Given the description of an element on the screen output the (x, y) to click on. 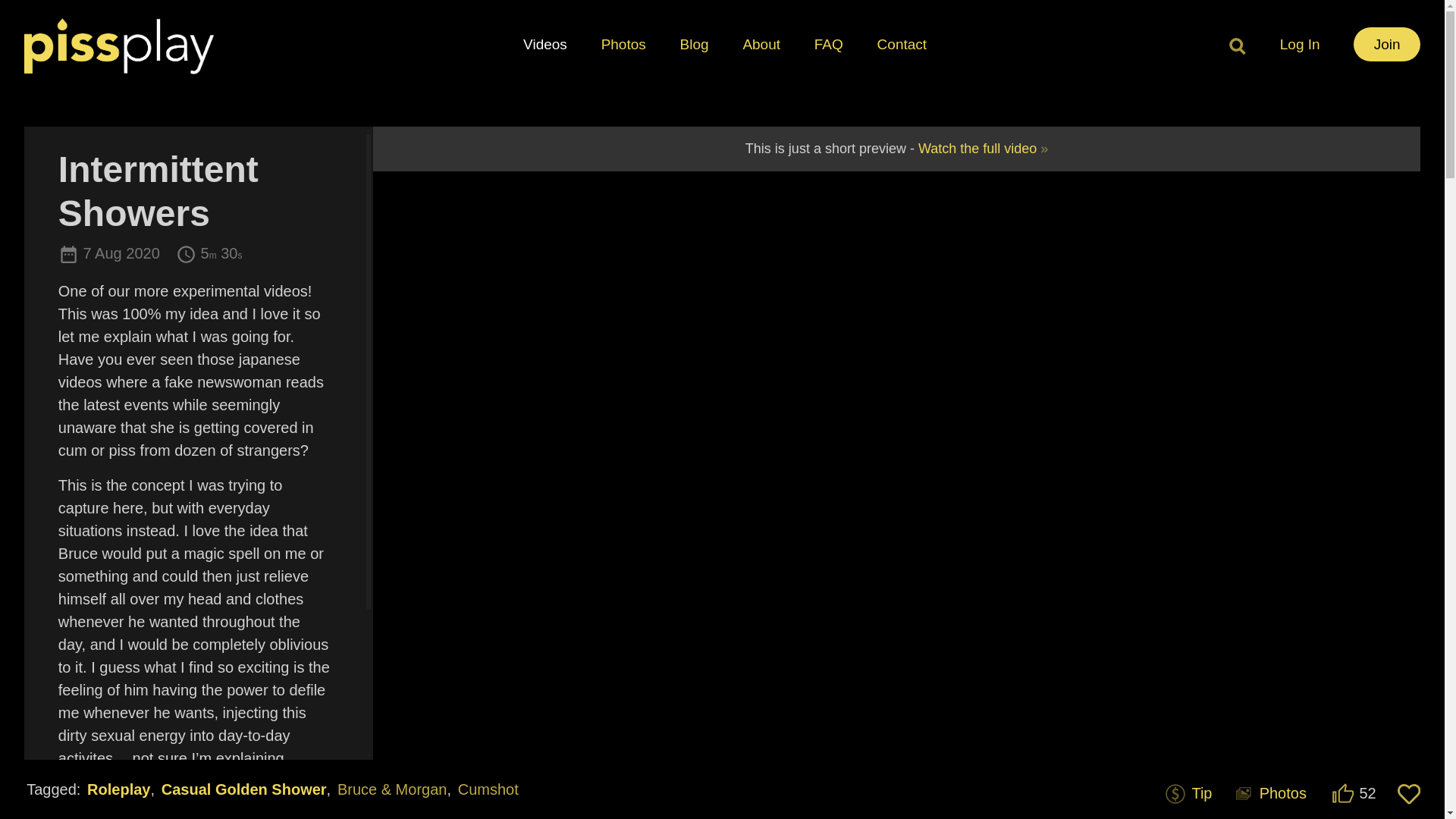
FAQ (828, 44)
Roleplay (117, 789)
Log In (1299, 44)
Send us a tip (1184, 793)
Tip (1184, 793)
Search (1235, 45)
About (761, 44)
Add to your Favorites (1409, 792)
I like this (1343, 792)
Photos (1268, 793)
Join (1387, 44)
See Photoset for this video (1268, 793)
Photos (623, 44)
Blog (694, 44)
Casual Golden Shower (242, 789)
